Given the description of an element on the screen output the (x, y) to click on. 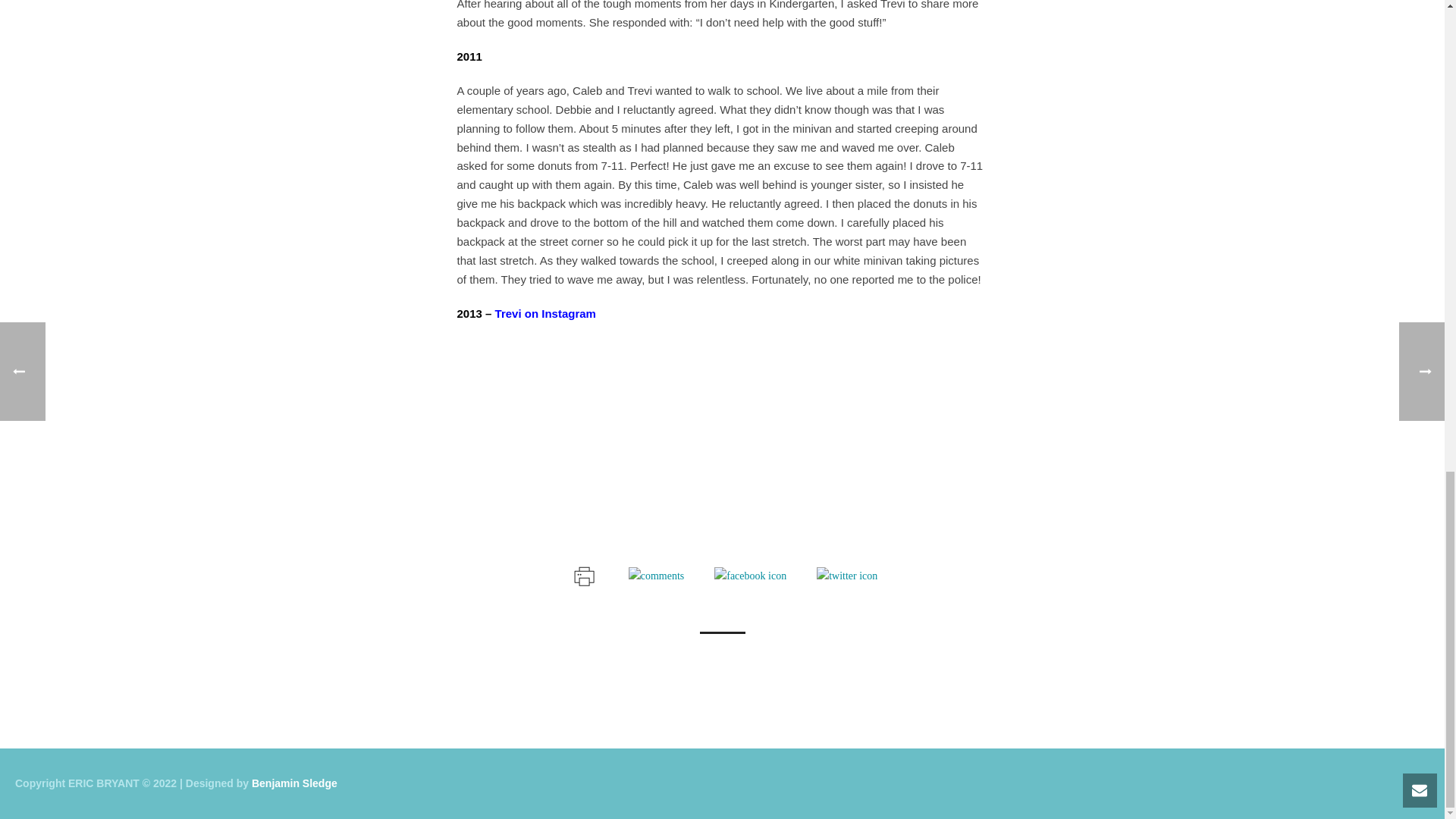
Benjamin Sledge (294, 783)
Print (582, 573)
Trevi on Instagram (545, 313)
